Given the description of an element on the screen output the (x, y) to click on. 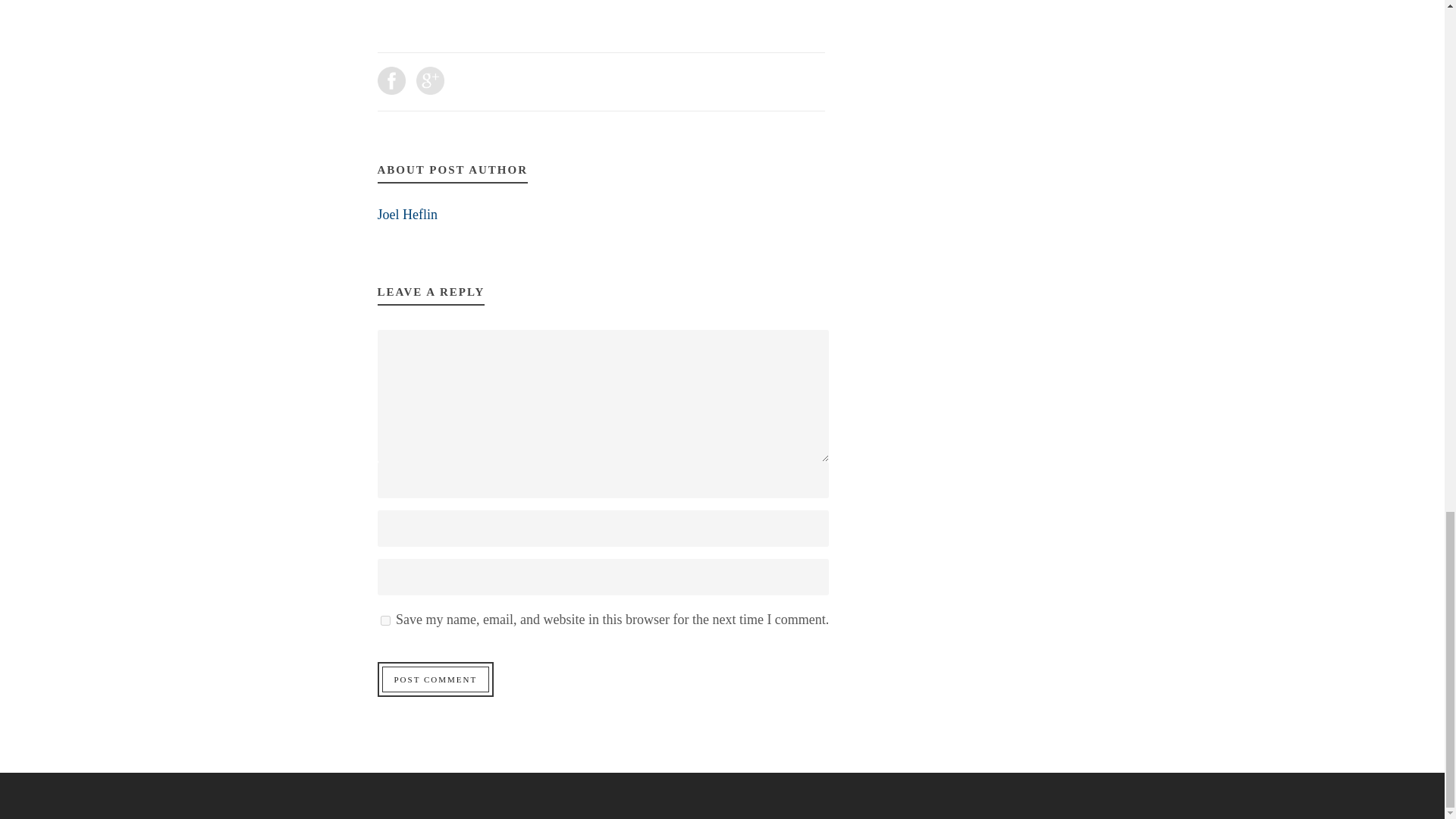
Joel Heflin (407, 214)
Post Comment (436, 678)
Posts by Joel Heflin (407, 214)
Post Comment (436, 678)
yes (385, 620)
